Given the description of an element on the screen output the (x, y) to click on. 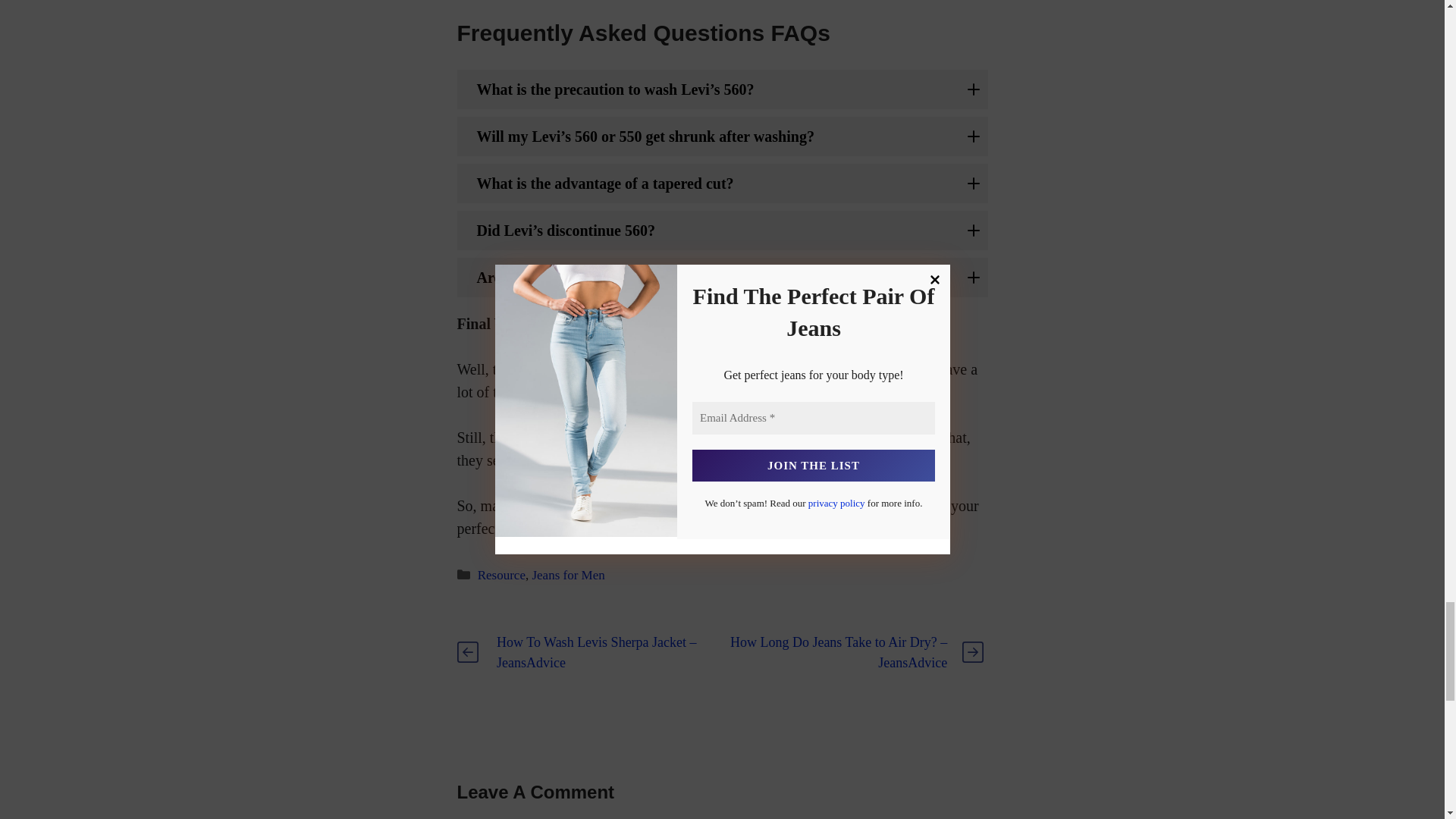
Jeans for Men (567, 575)
Resource (501, 575)
